Given the description of an element on the screen output the (x, y) to click on. 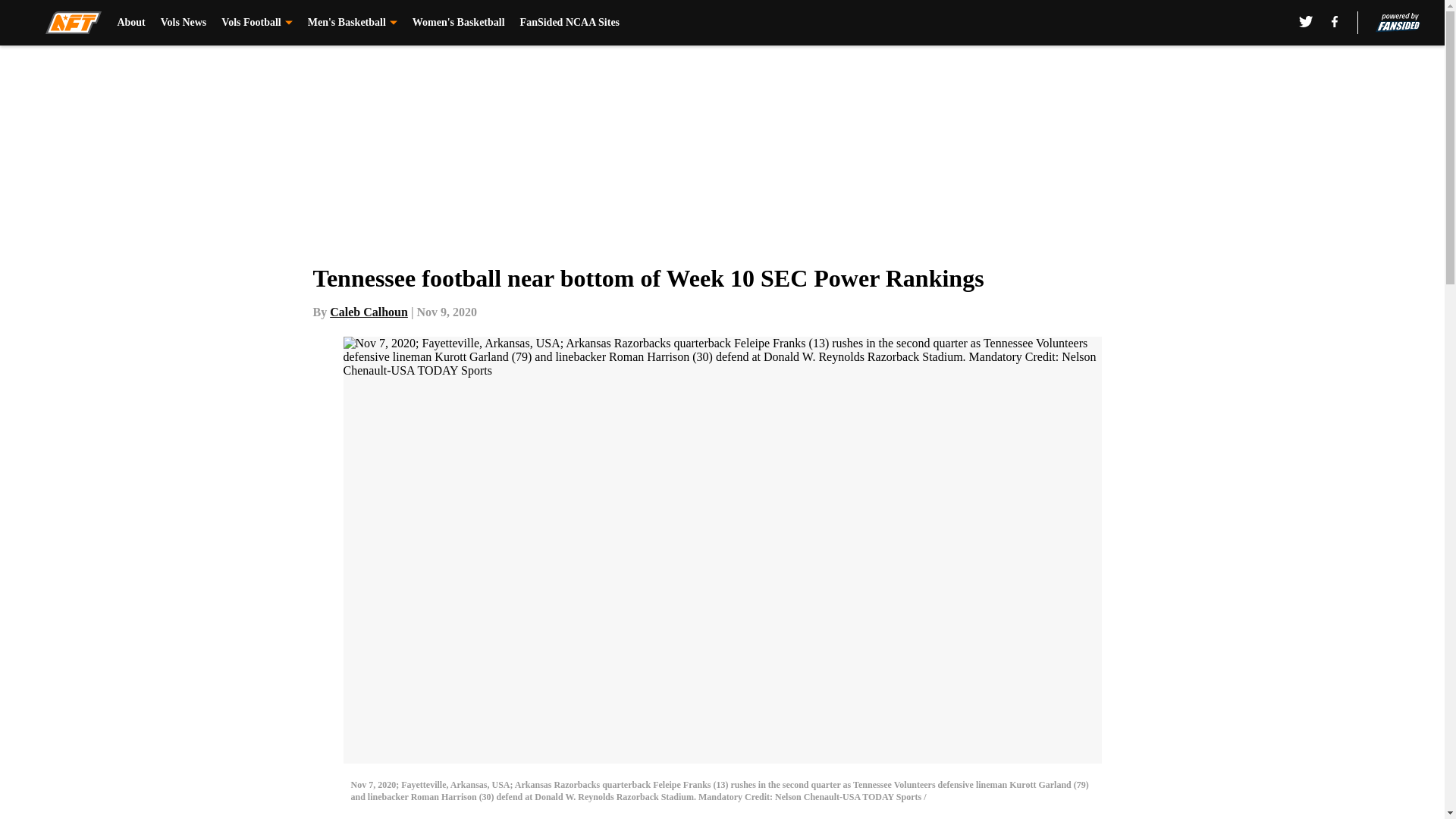
Caleb Calhoun (368, 311)
FanSided NCAA Sites (569, 22)
About (130, 22)
Women's Basketball (458, 22)
Vols News (183, 22)
